Given the description of an element on the screen output the (x, y) to click on. 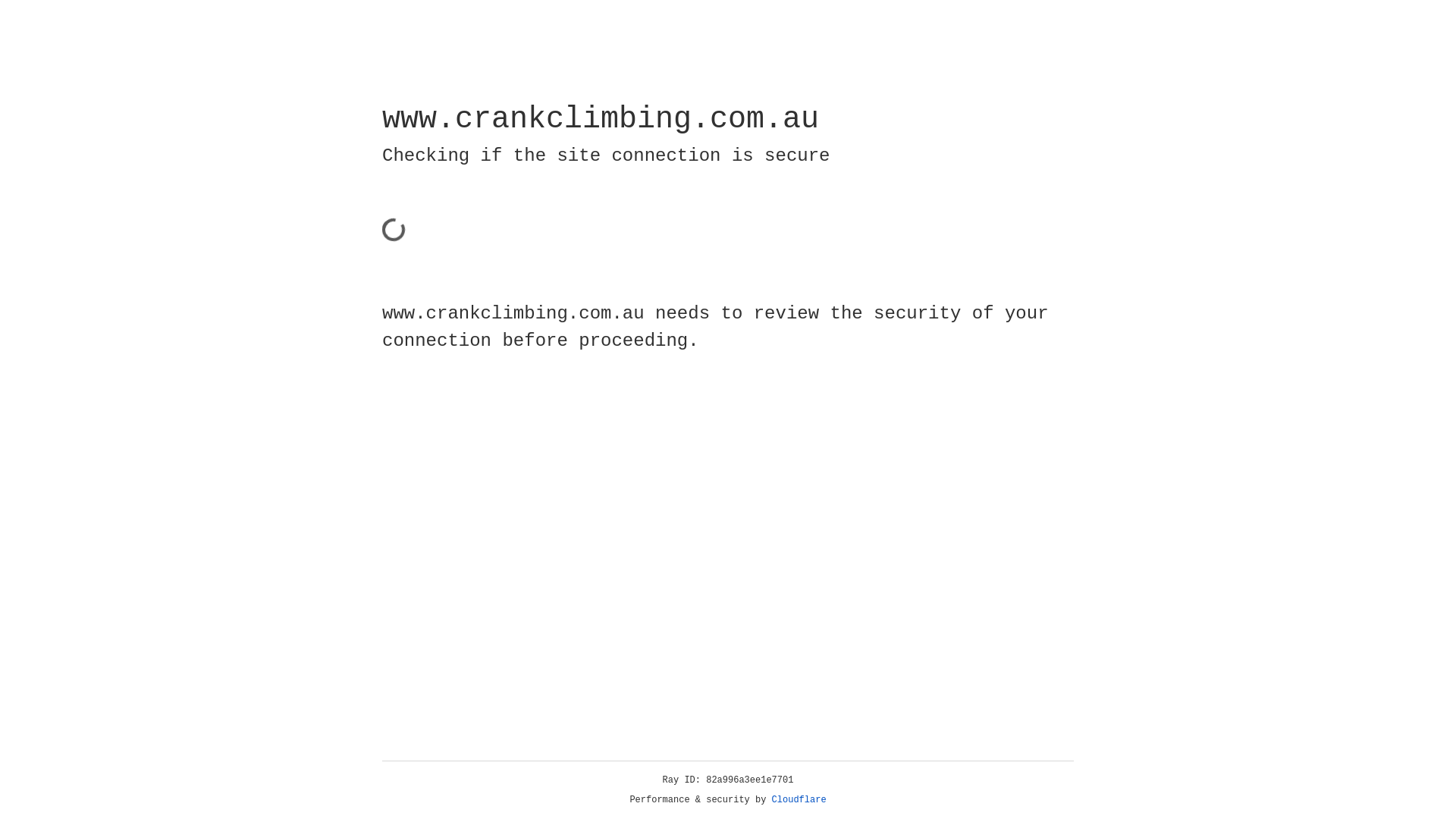
Cloudflare Element type: text (798, 799)
